Given the description of an element on the screen output the (x, y) to click on. 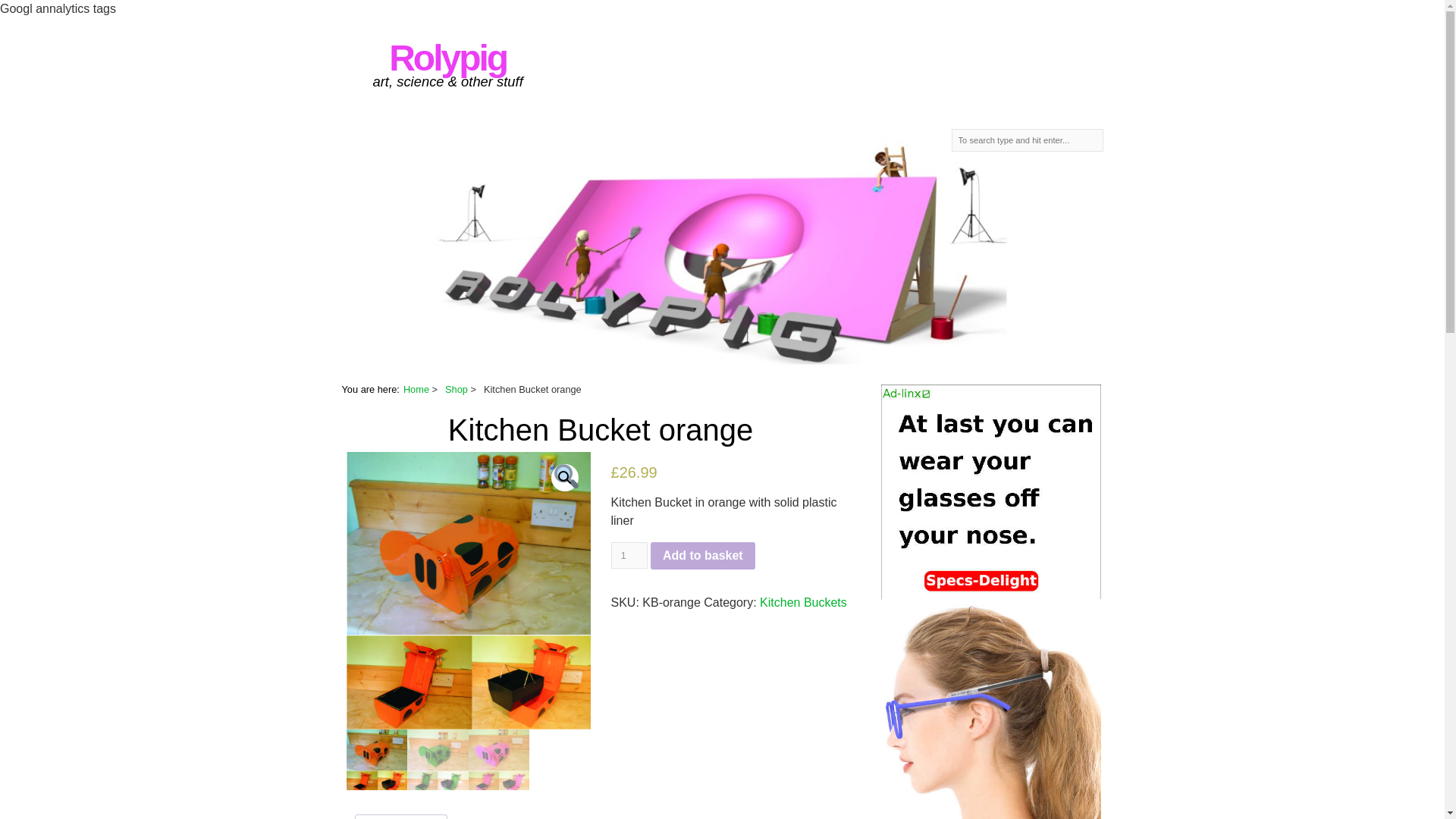
Home (416, 389)
Shop (456, 389)
Description (399, 816)
Rolypig (447, 57)
Kitchen Buckets (803, 602)
1 (629, 555)
Add to basket (702, 555)
